Given the description of an element on the screen output the (x, y) to click on. 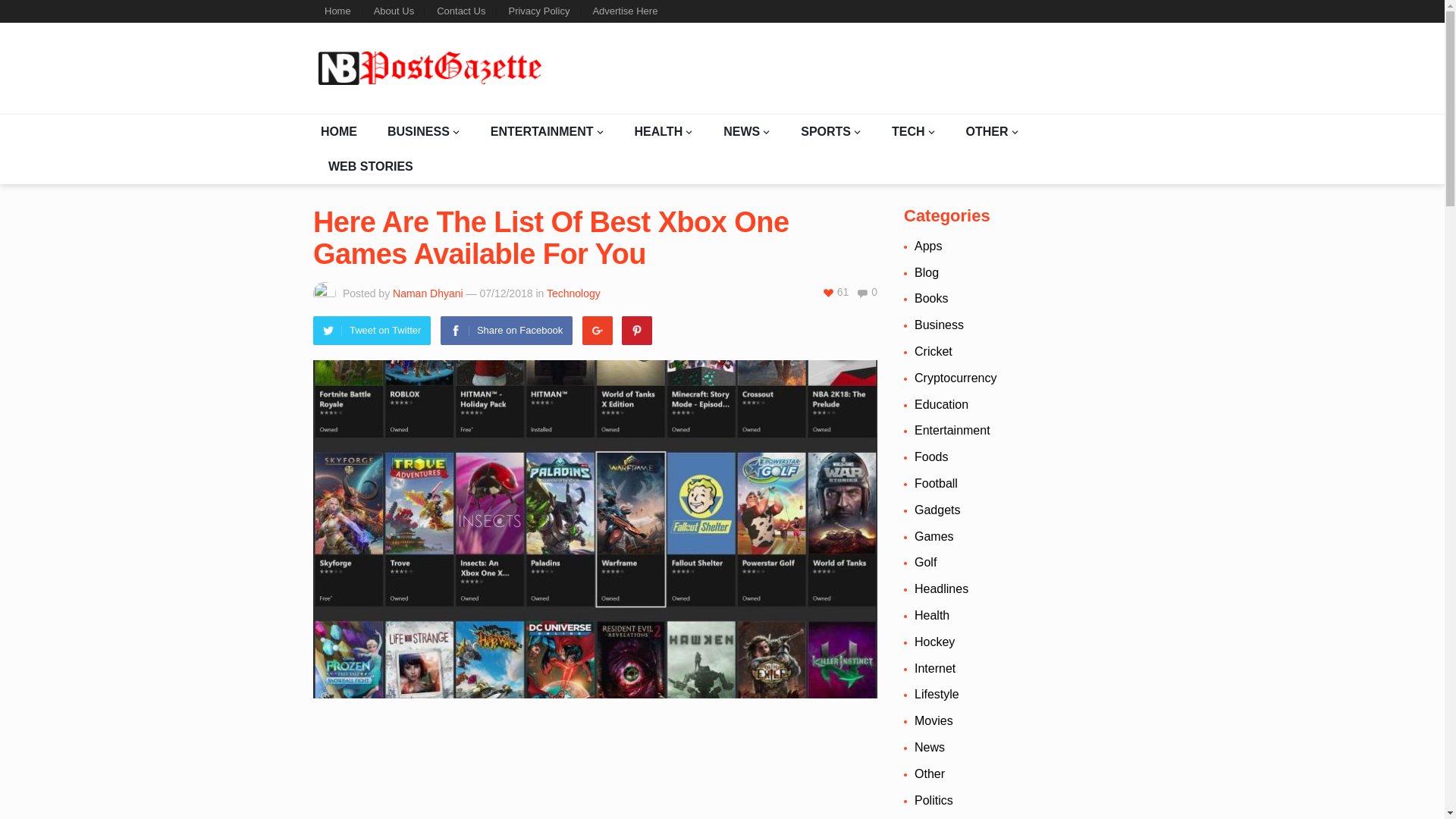
Posts by Naman Dhyani (428, 293)
View all posts in Technology (573, 293)
Advertisement (594, 765)
NEWS (746, 131)
Unlike (835, 291)
Contact Us (460, 11)
OTHER (992, 131)
TECH (913, 131)
ENTERTAINMENT (547, 131)
Advertise Here (624, 11)
